Given the description of an element on the screen output the (x, y) to click on. 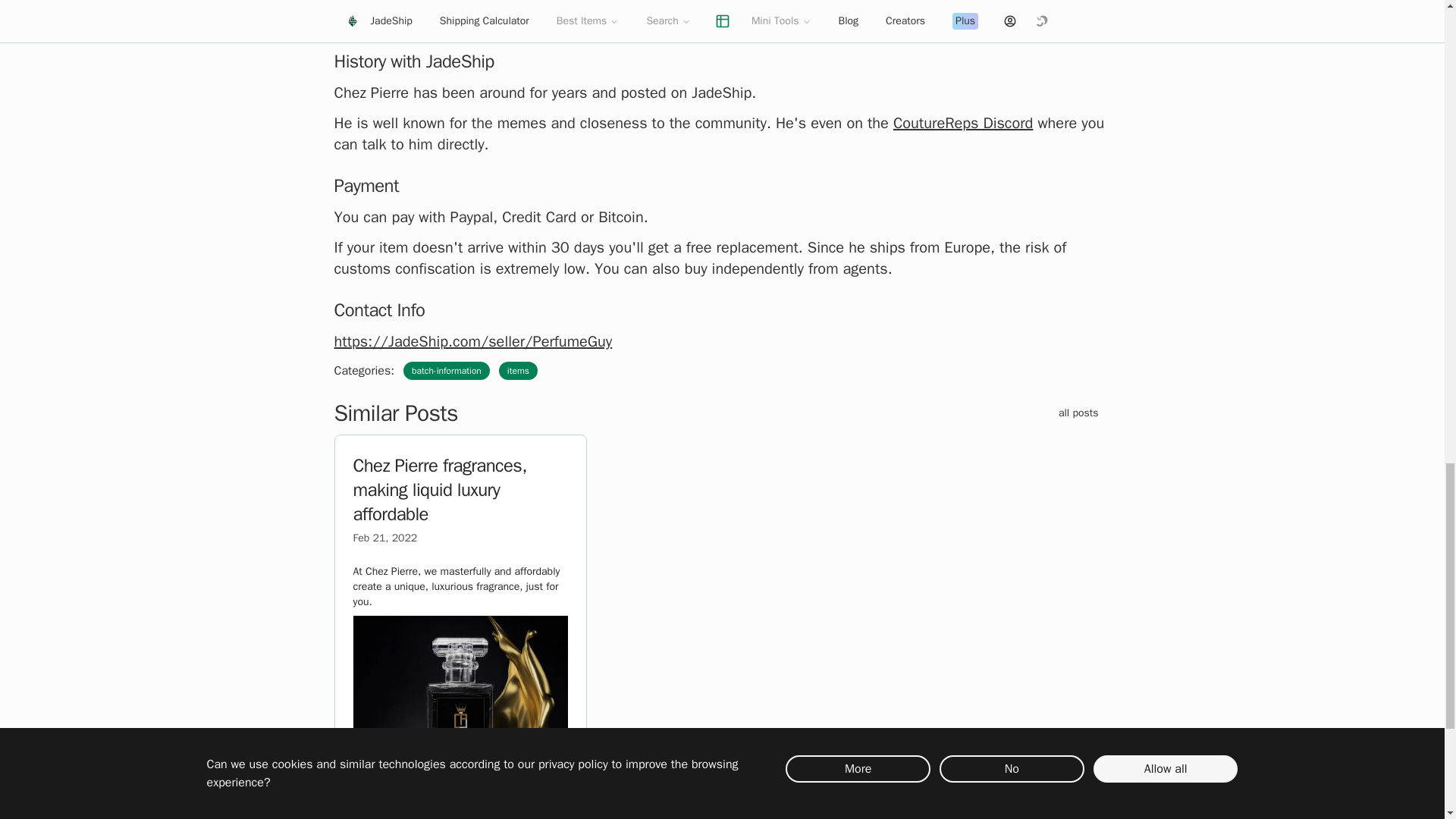
items (518, 370)
CoutureReps Discord (963, 122)
all posts (1078, 413)
batch-information (446, 370)
Chez Pierre fragrances, making liquid luxury affordable (440, 489)
read more... (393, 769)
